Given the description of an element on the screen output the (x, y) to click on. 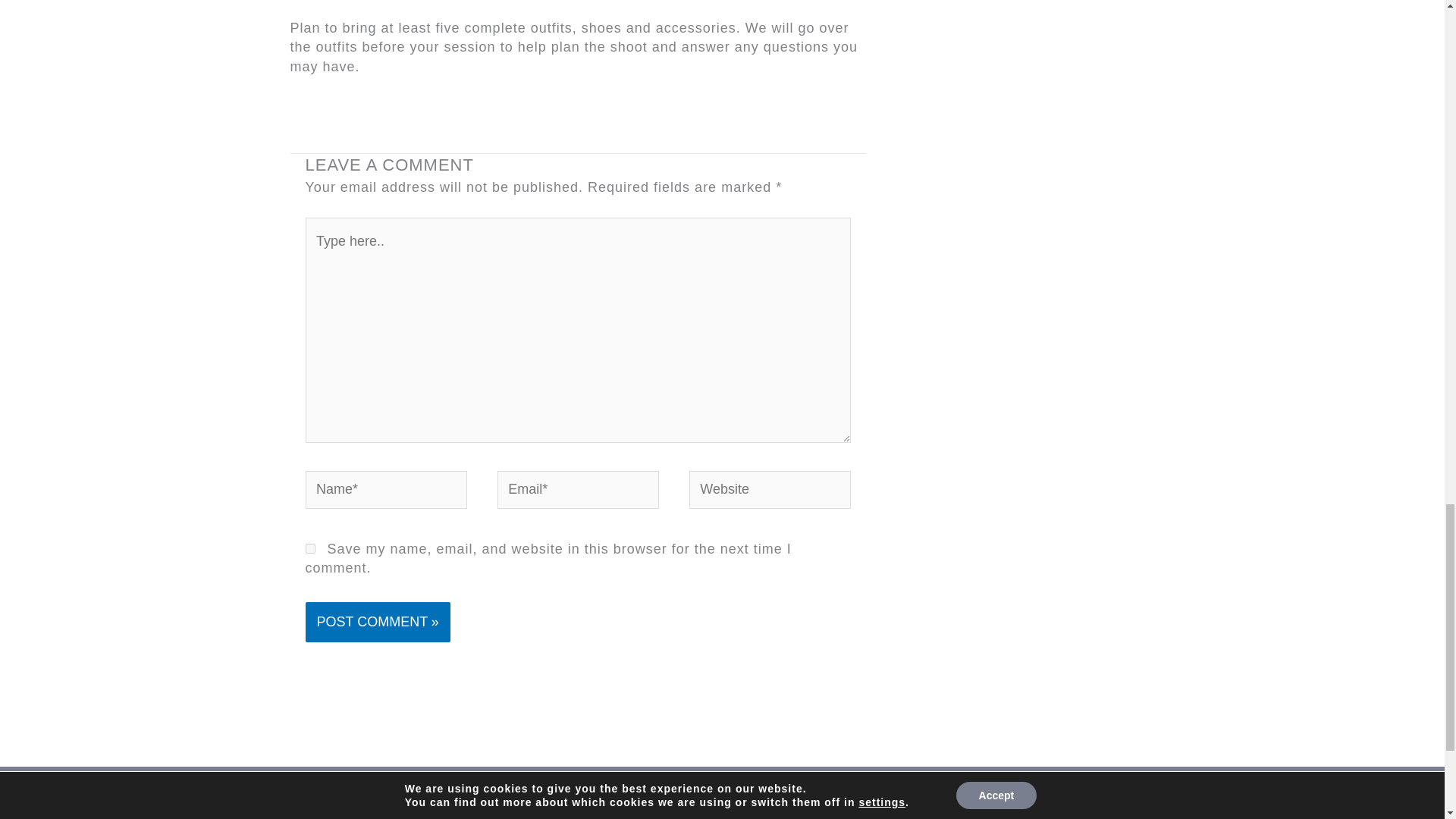
yes (309, 548)
